Given the description of an element on the screen output the (x, y) to click on. 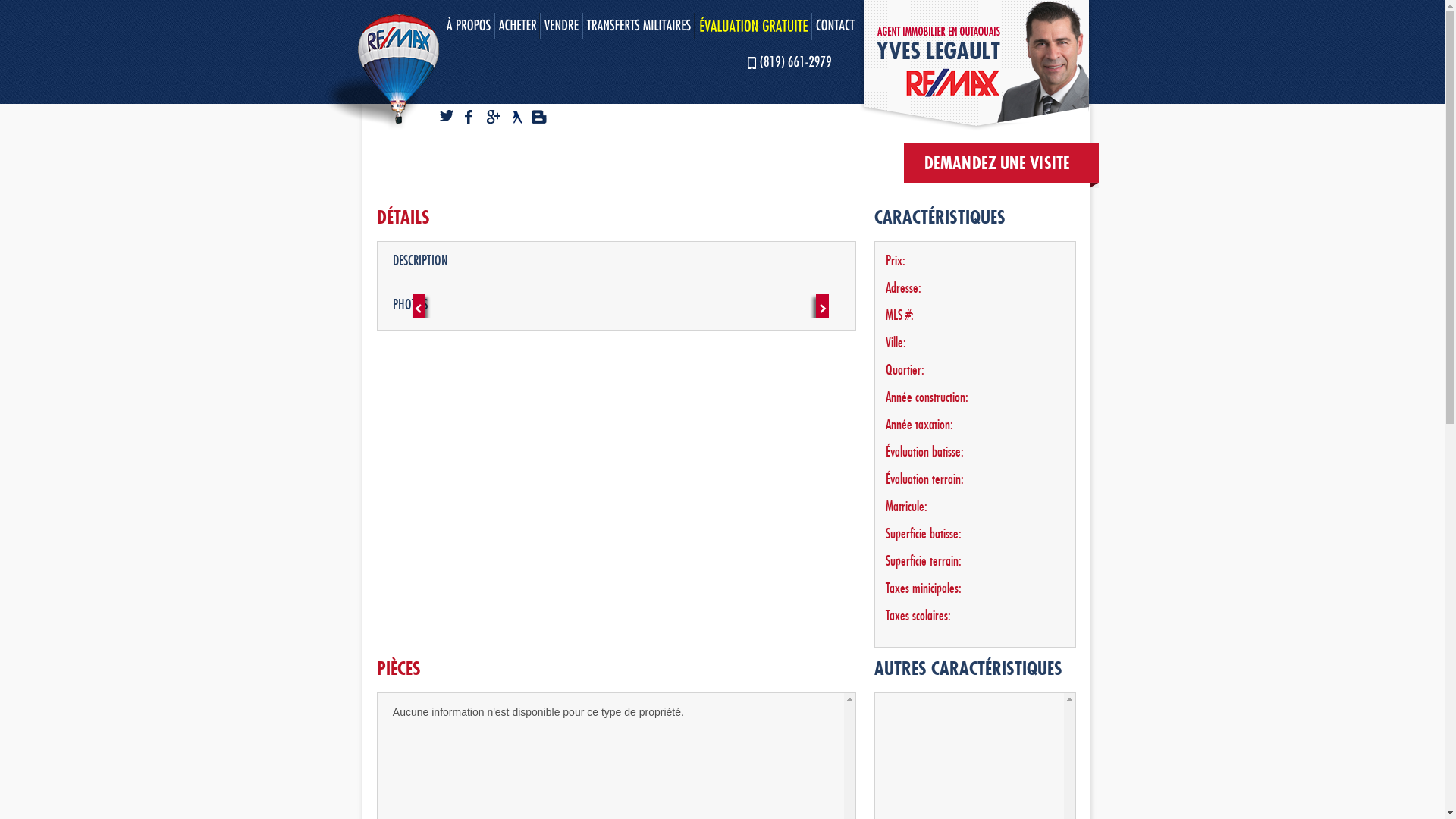
Transferts militaires Element type: hover (638, 25)
Contact Element type: hover (834, 25)
Prev Element type: text (420, 310)
Next Element type: text (818, 310)
Yves Legault Courtier Immobilier RE/MAX en Outaouais Element type: hover (975, 65)
DEMANDEZ UNE VISITE Element type: text (997, 162)
facebook Element type: hover (475, 117)
google Element type: hover (499, 117)
Courtier Immobilier RE/MAX Element type: hover (381, 72)
twitter Element type: hover (451, 117)
Acheter une maison Element type: hover (517, 25)
Le blogue de l'immobilier en Outaouais Element type: hover (540, 117)
Vendre une maison Element type: hover (561, 25)
Yves Legault Courtier Immobilier RE/MAX Element type: hover (521, 117)
